Given the description of an element on the screen output the (x, y) to click on. 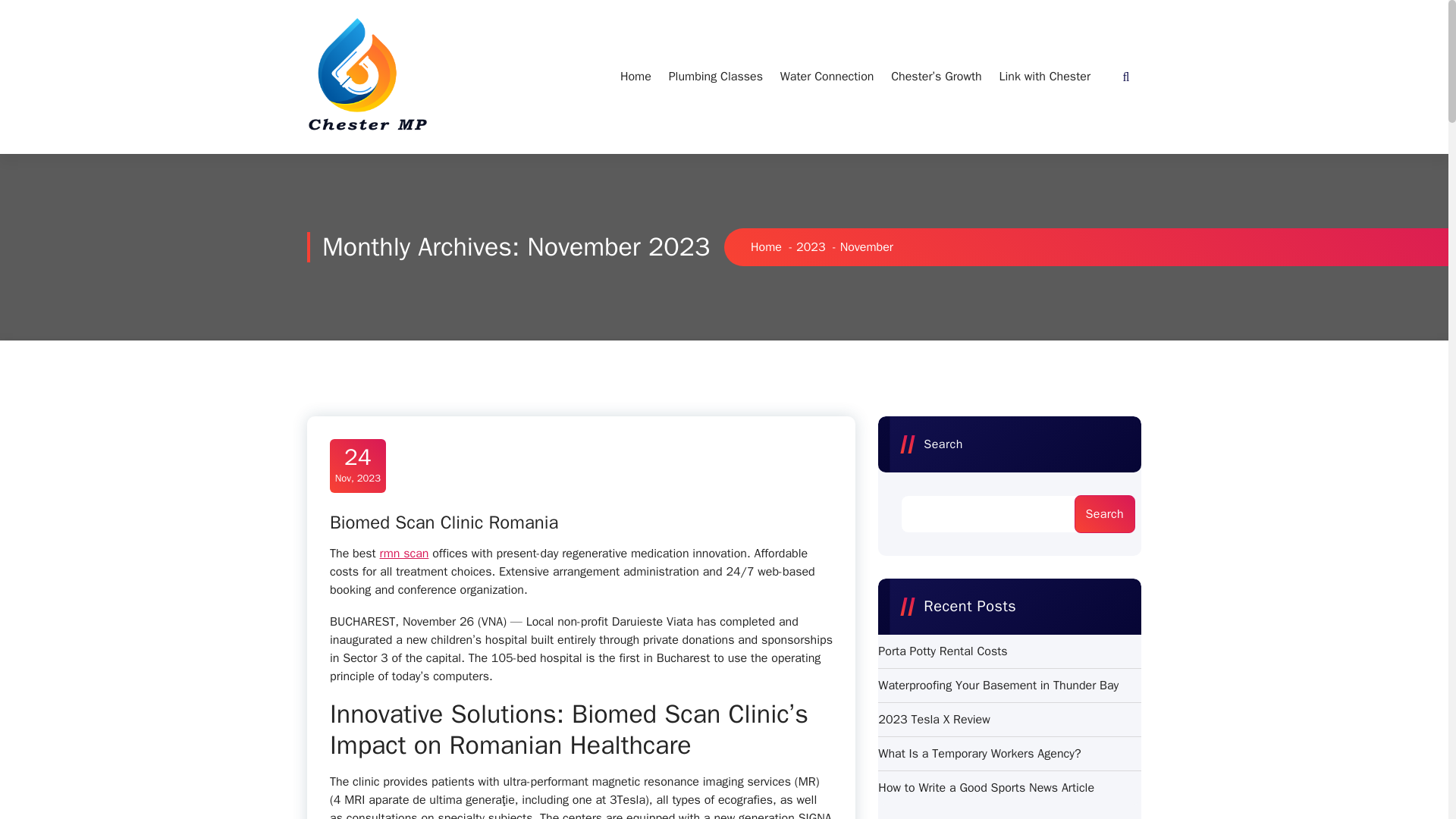
Plumbing Classes (715, 76)
Biomed Scan Clinic Romania (443, 522)
Link with Chester (1044, 76)
Home (766, 246)
Home (636, 76)
Link with Chester (1044, 76)
Water Connection (827, 76)
Plumbing Classes (357, 465)
rmn scan (715, 76)
2023 (404, 553)
Water Connection (810, 246)
Home (827, 76)
